Given the description of an element on the screen output the (x, y) to click on. 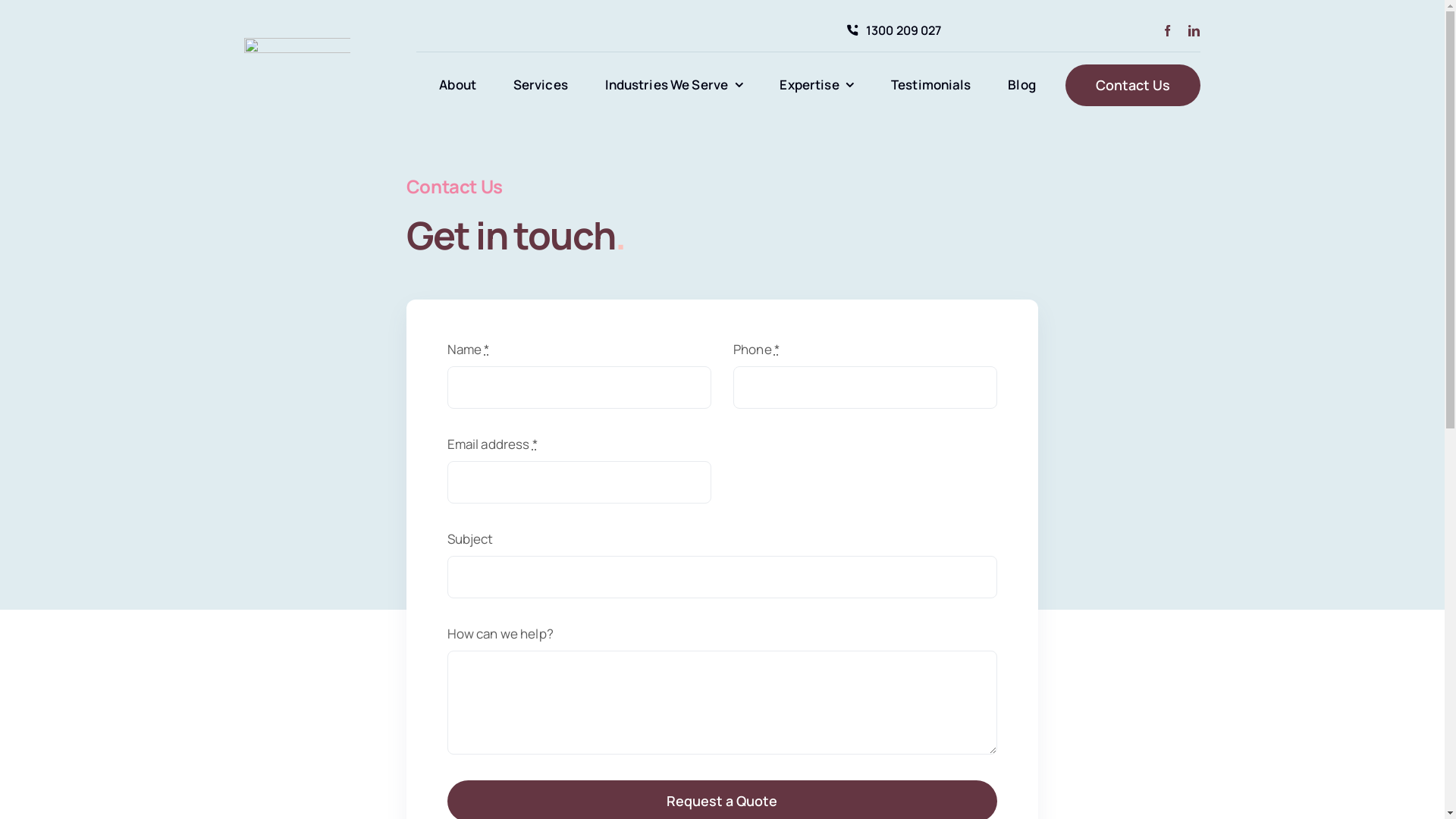
Contact Us Element type: text (1132, 85)
Services Element type: text (540, 85)
Expertise Element type: text (816, 85)
1300 209 027 Element type: text (890, 29)
Testimonials Element type: text (931, 85)
Industries We Serve Element type: text (673, 85)
Blog Element type: text (1021, 85)
About Element type: text (457, 85)
